Given the description of an element on the screen output the (x, y) to click on. 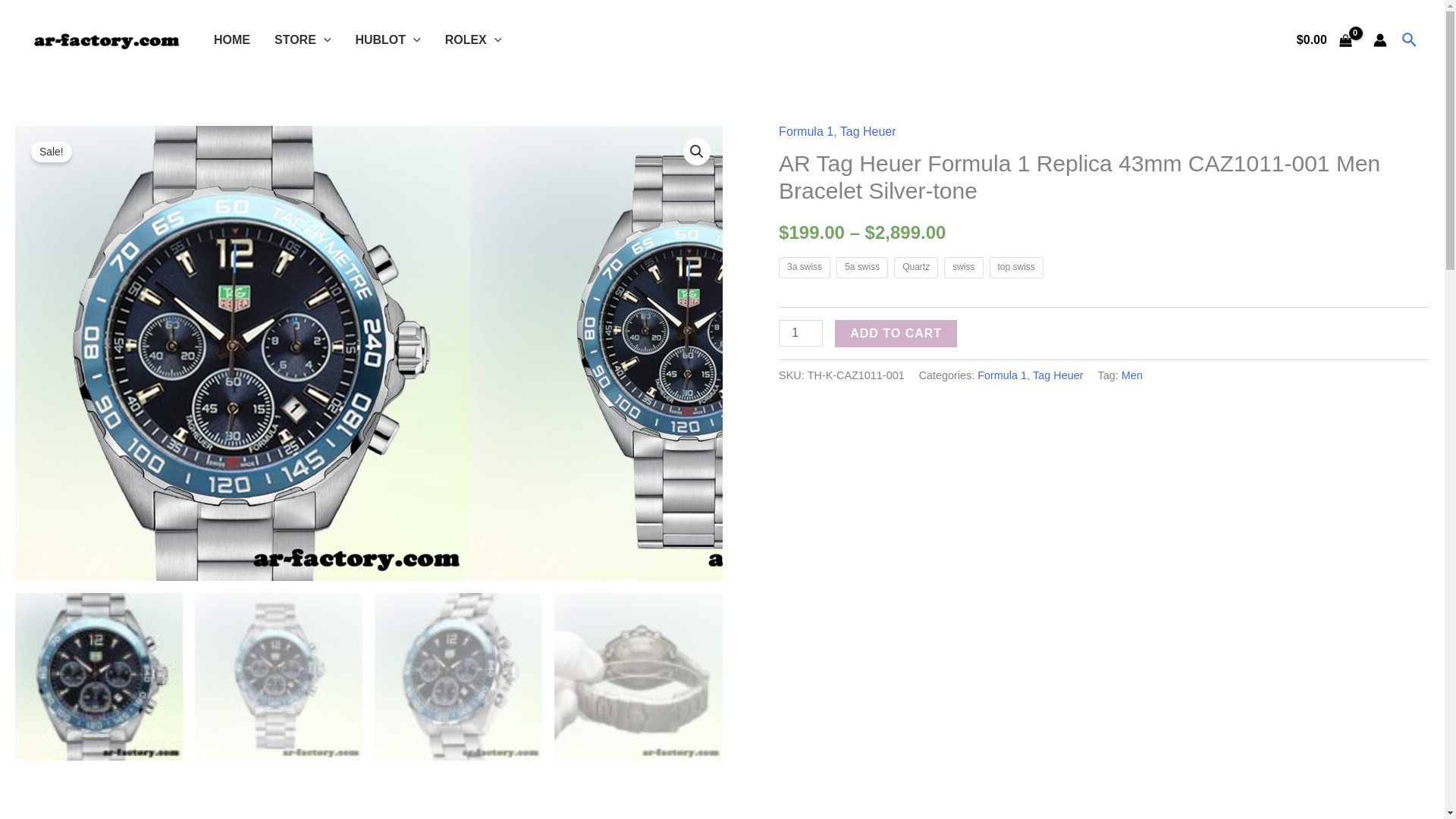
HUBLOT (387, 39)
ROLEX (472, 39)
HOME (232, 39)
STORE (302, 39)
1 (800, 333)
